Given the description of an element on the screen output the (x, y) to click on. 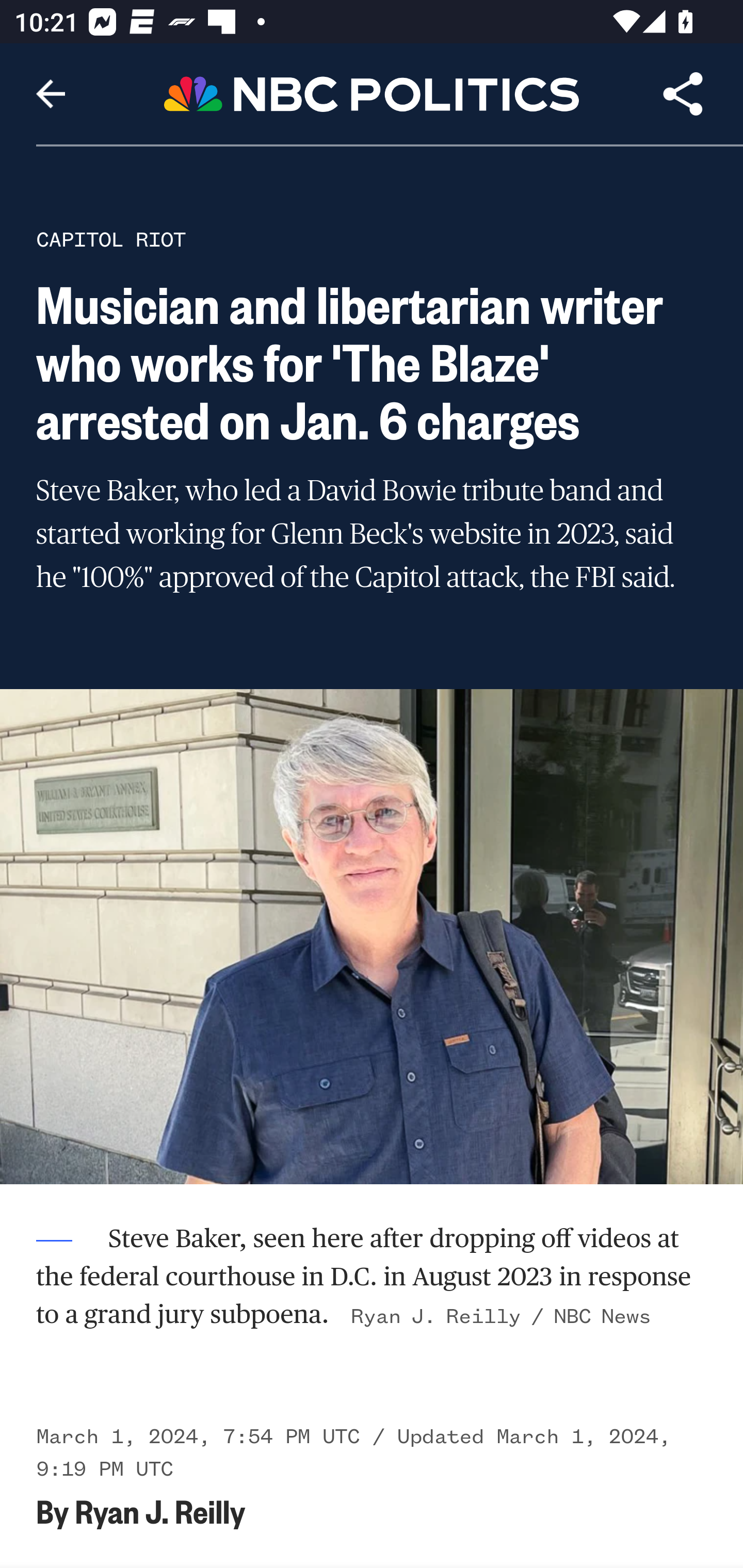
Navigate up (50, 93)
Share Article, button (683, 94)
Header, NBC Politics (371, 93)
CAPITOL RIOT (110, 239)
